Given the description of an element on the screen output the (x, y) to click on. 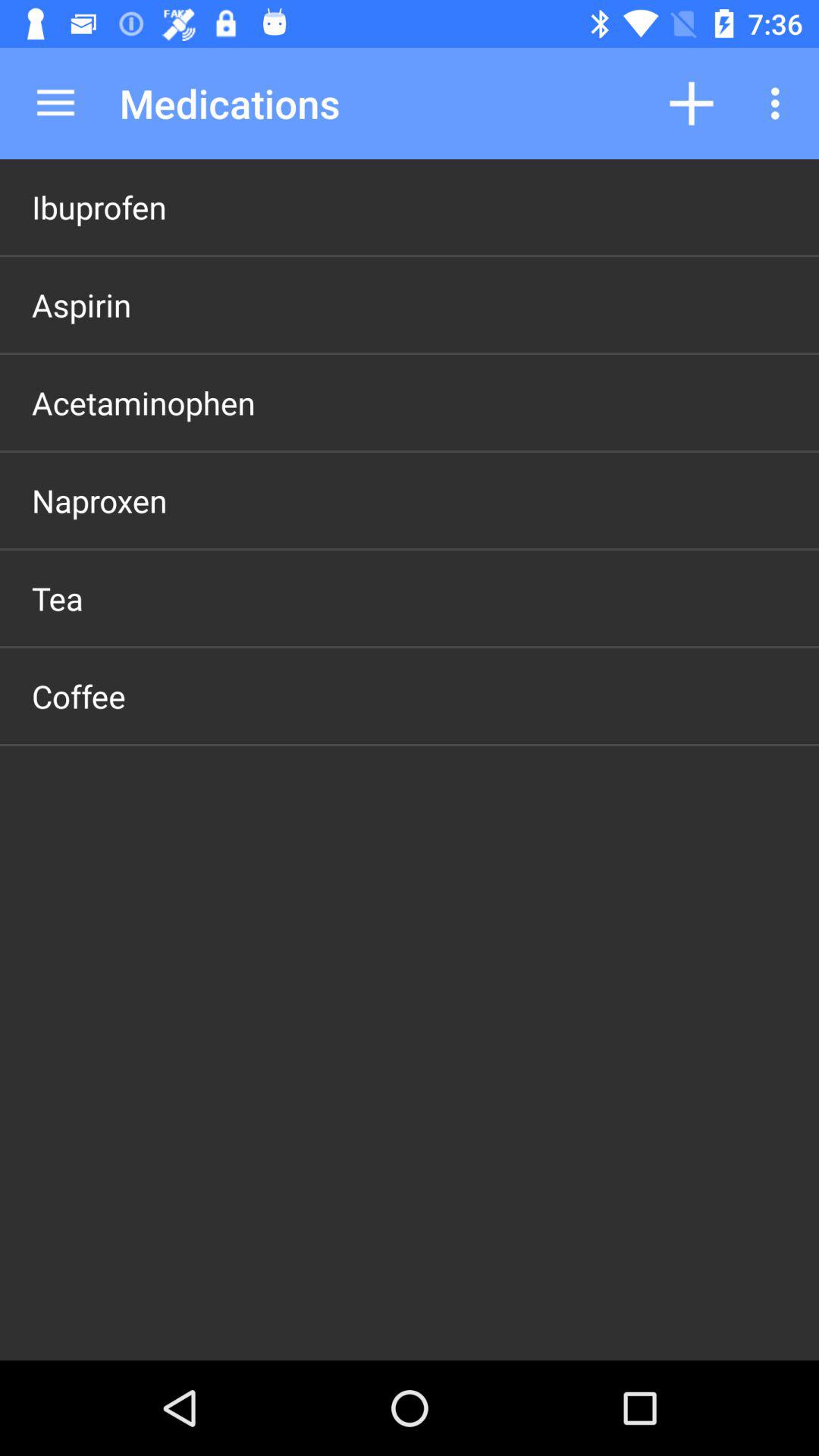
swipe until aspirin item (81, 304)
